Given the description of an element on the screen output the (x, y) to click on. 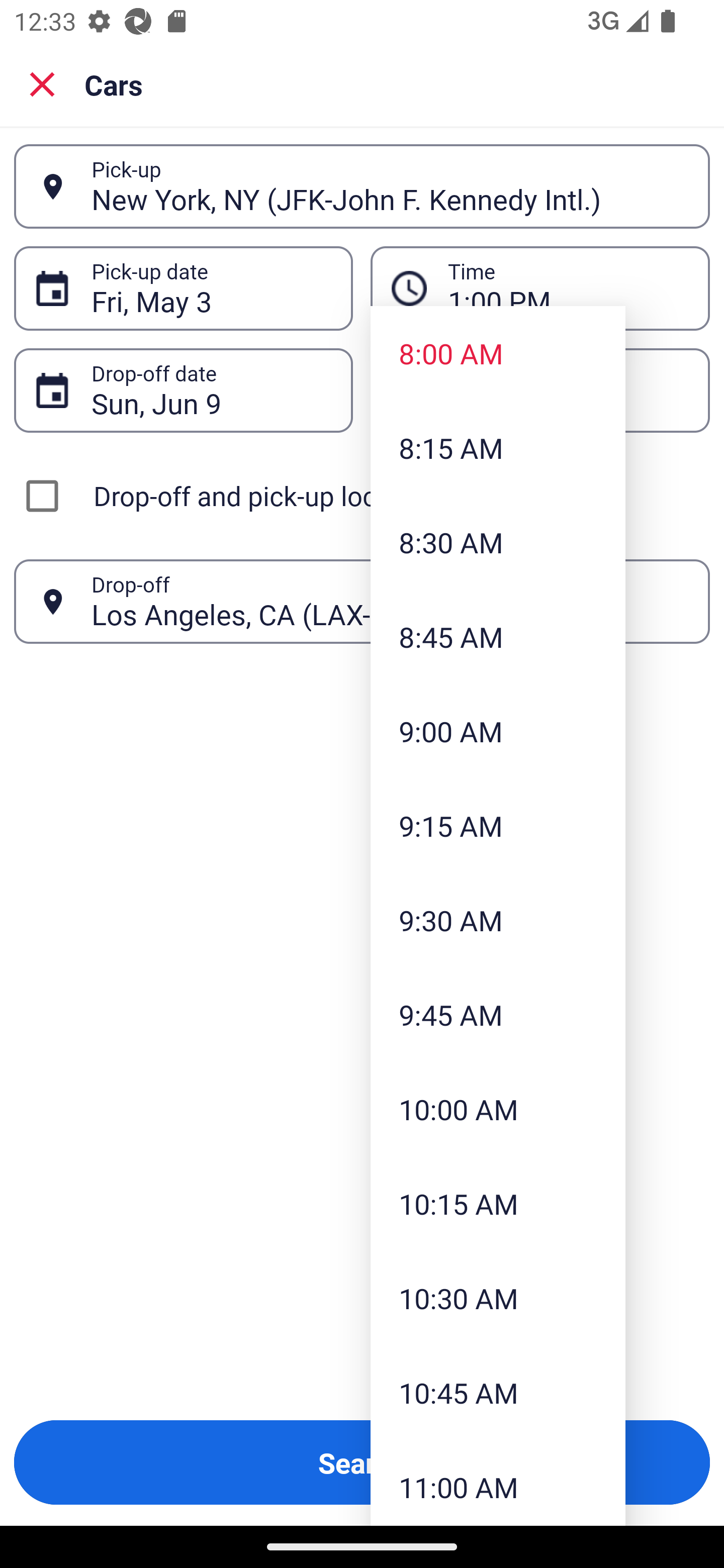
8:00 AM (497, 352)
8:15 AM (497, 447)
8:30 AM (497, 542)
8:45 AM (497, 636)
9:00 AM (497, 730)
9:15 AM (497, 825)
9:30 AM (497, 920)
9:45 AM (497, 1014)
10:00 AM (497, 1109)
10:15 AM (497, 1204)
10:30 AM (497, 1298)
10:45 AM (497, 1392)
11:00 AM (497, 1482)
